Given the description of an element on the screen output the (x, y) to click on. 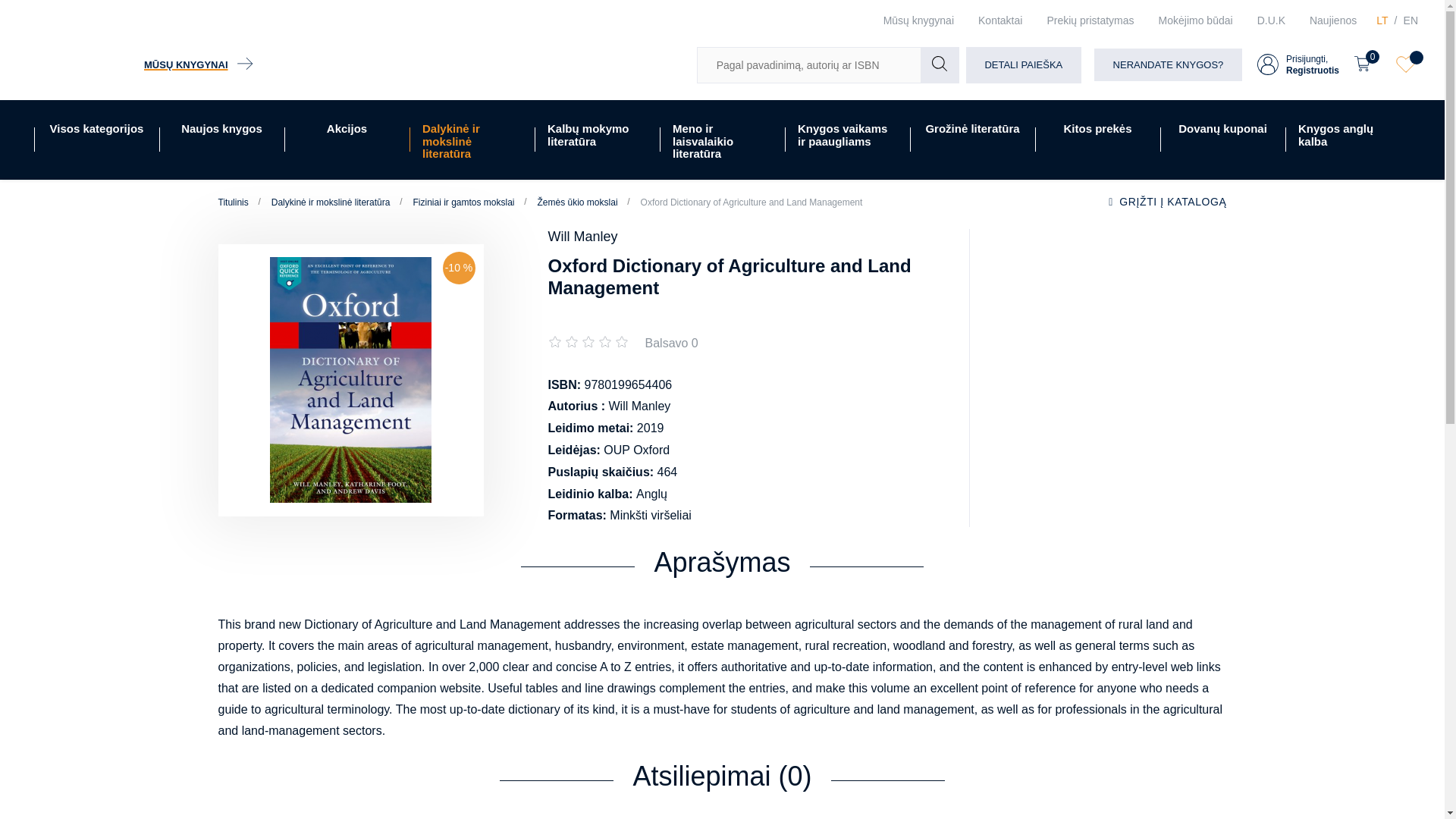
Kontaktai (999, 20)
D.U.K (1270, 20)
Visos kategorijos (97, 139)
Naujienos (1332, 20)
0 (1366, 64)
LT (1381, 20)
NERANDATE KNYGOS? (1167, 64)
EN (1298, 64)
